Given the description of an element on the screen output the (x, y) to click on. 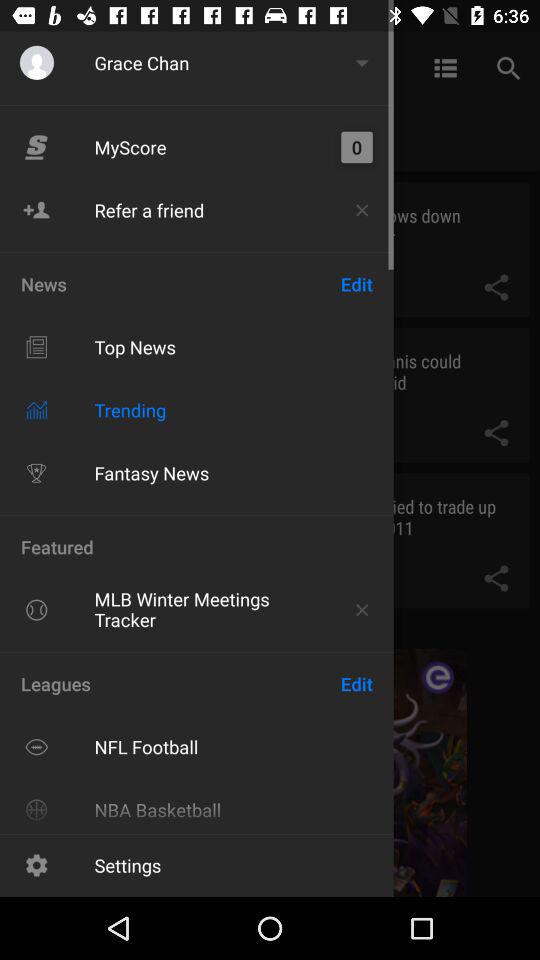
go to share option in first row (496, 287)
select the text left to nba basketball (36, 809)
